Given the description of an element on the screen output the (x, y) to click on. 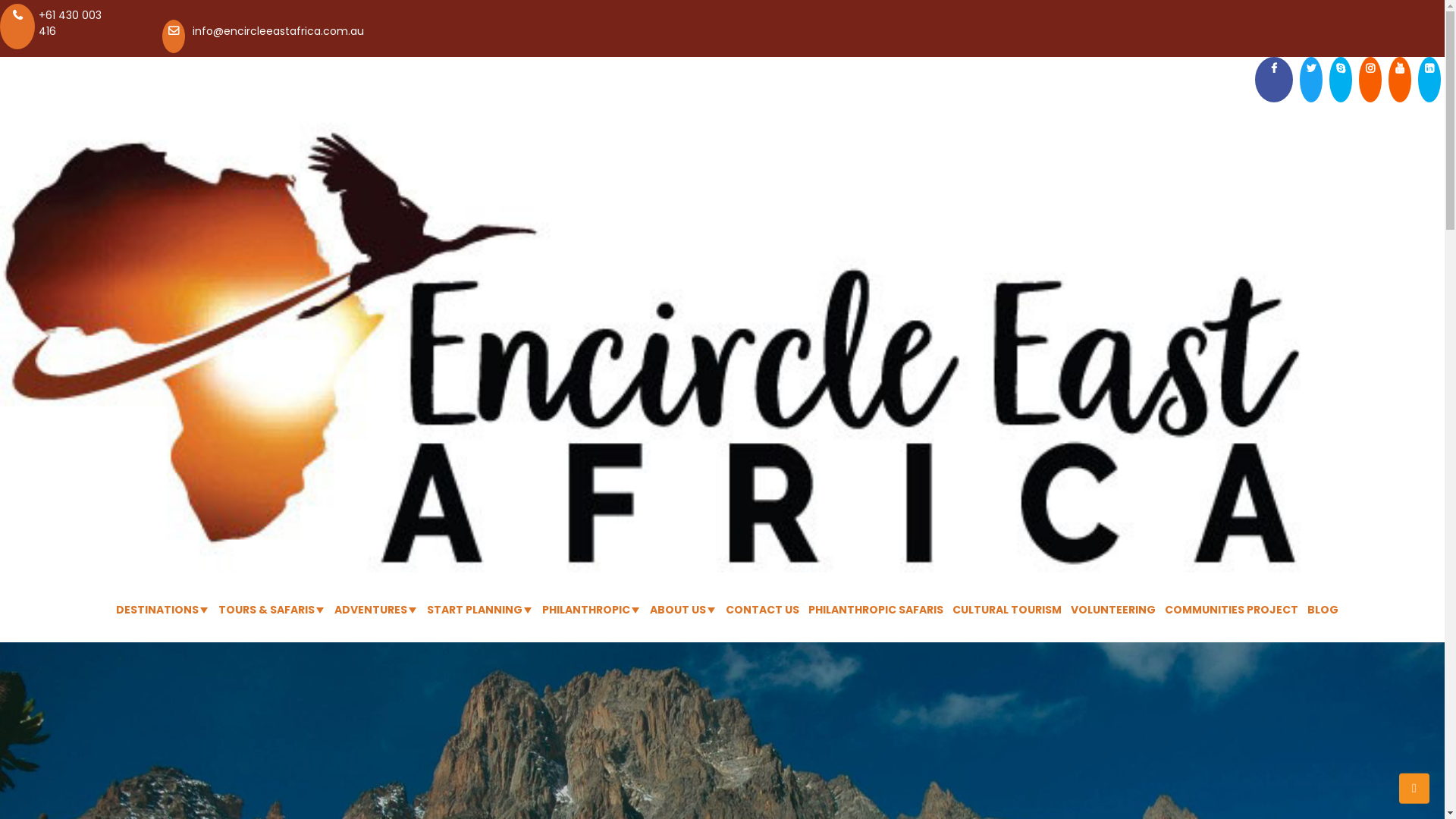
ABOUT US Element type: text (677, 609)
+61 430 003 416 Element type: text (69, 22)
COMMUNITIES PROJECT Element type: text (1231, 609)
PHILANTHROPIC Element type: text (585, 609)
ADVENTURES Element type: text (369, 609)
CONTACT US Element type: text (761, 609)
VOLUNTEERING Element type: text (1112, 609)
info@encircleeastafrica.com.au Element type: text (278, 30)
START PLANNING Element type: text (473, 609)
BLOG Element type: text (1322, 609)
DESTINATIONS Element type: text (156, 609)
TOURS & SAFARIS Element type: text (266, 609)
CULTURAL TOURISM Element type: text (1006, 609)
PHILANTHROPIC SAFARIS Element type: text (875, 609)
